Given the description of an element on the screen output the (x, y) to click on. 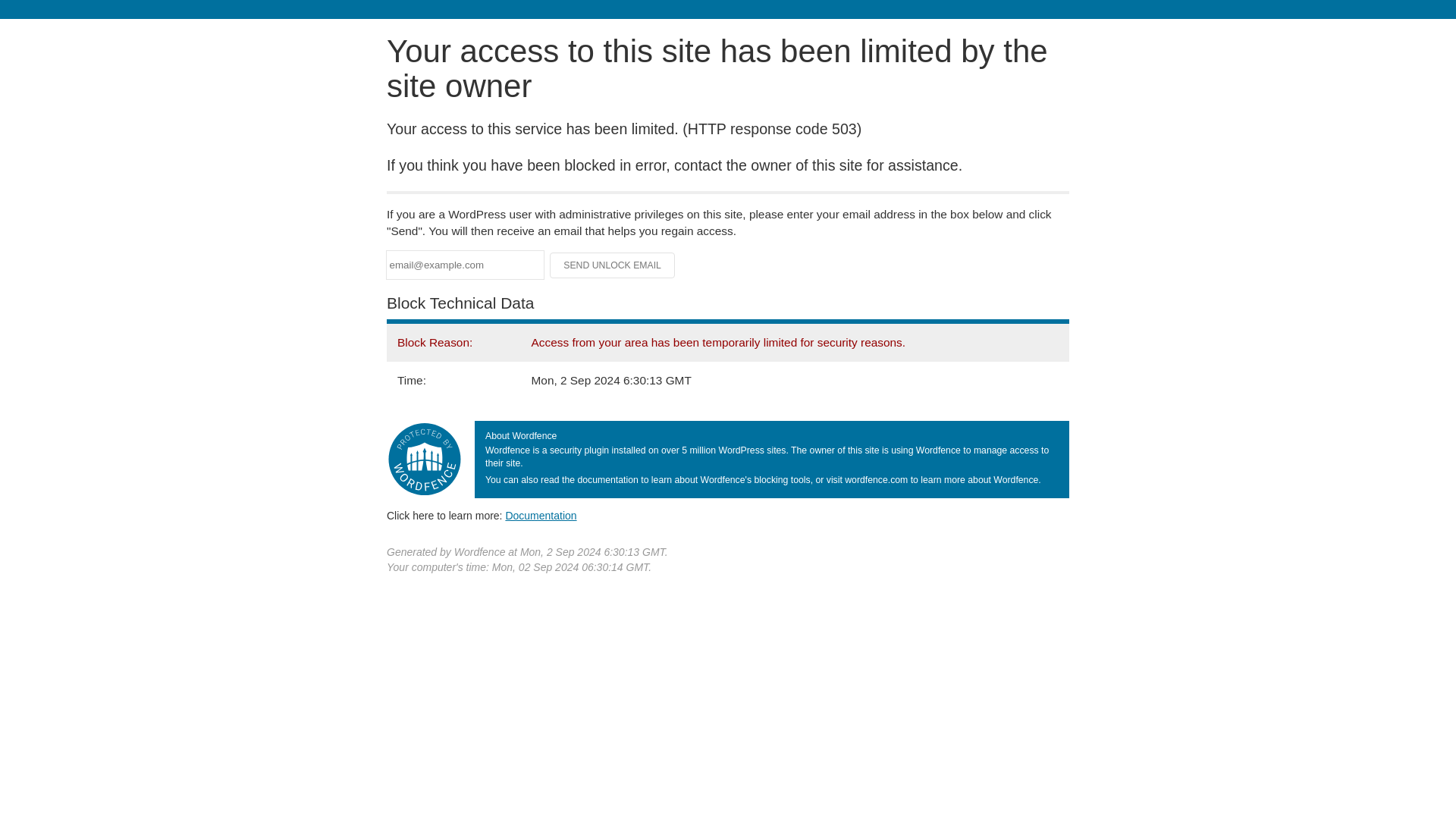
Send Unlock Email (612, 265)
Send Unlock Email (612, 265)
Documentation (540, 515)
